Given the description of an element on the screen output the (x, y) to click on. 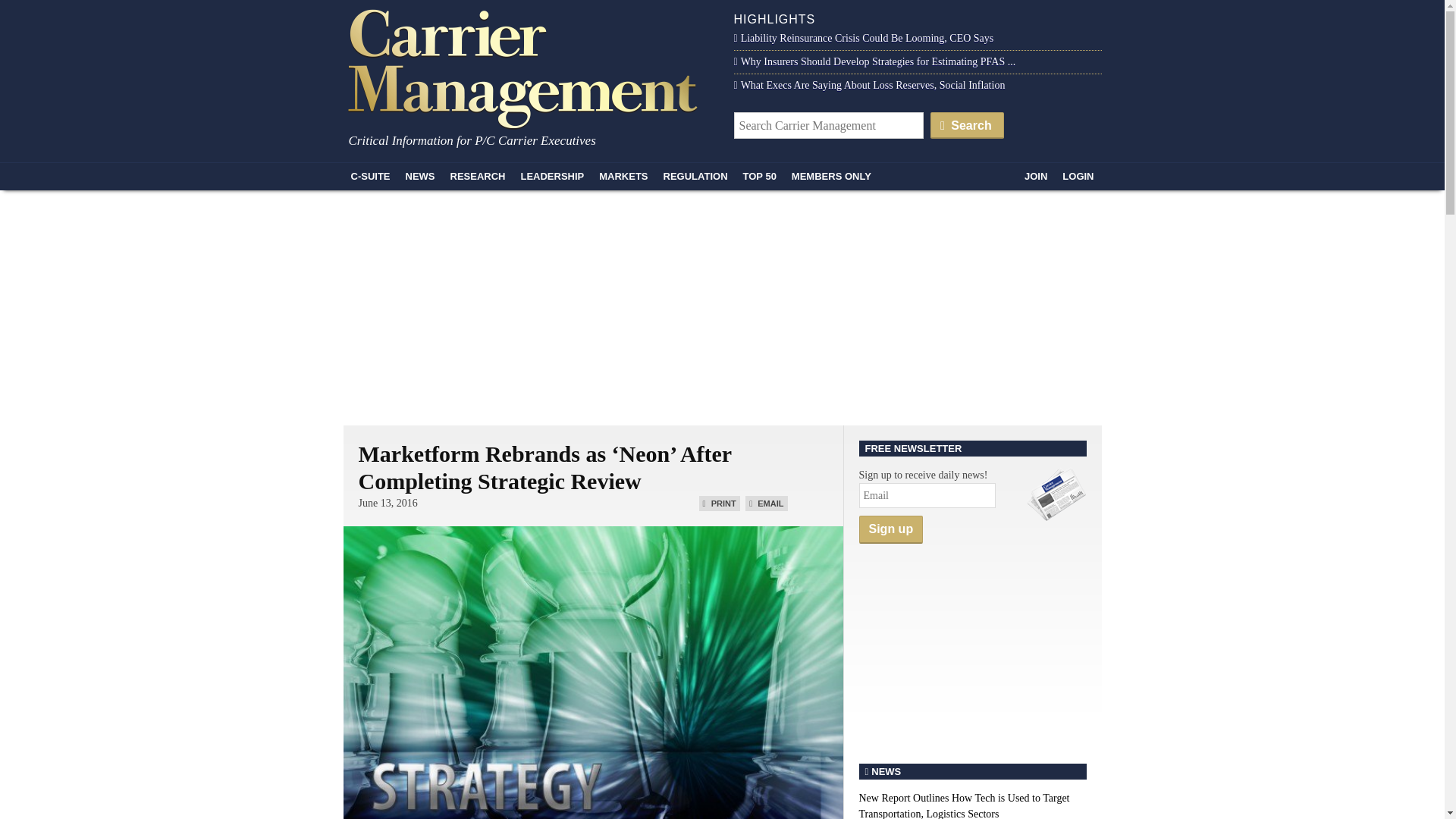
LOGIN (1077, 176)
REGULATION (695, 176)
C-SUITE (369, 176)
TOP 50 (759, 176)
Search (967, 125)
RESEARCH (477, 176)
LEADERSHIP (551, 176)
MEMBERS ONLY (831, 176)
MARKETS (623, 176)
What Execs Are Saying About Loss Reserves, Social Inflation (869, 84)
Liability Reinsurance Crisis Could Be Looming, CEO Says (863, 38)
Carrier Management (527, 67)
JOIN (1035, 176)
NEWS (419, 176)
